Given the description of an element on the screen output the (x, y) to click on. 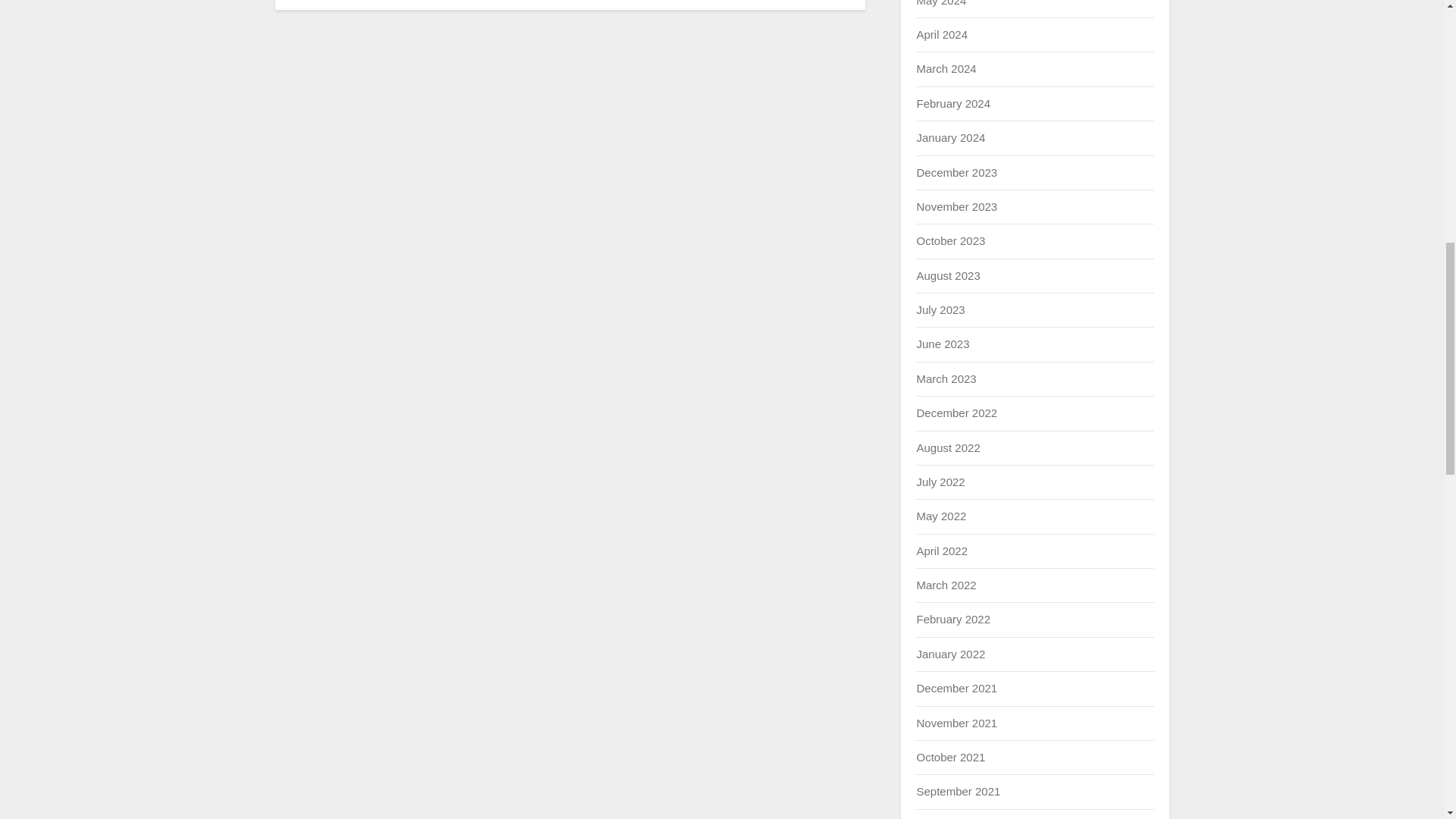
July 2022 (939, 481)
August 2023 (947, 275)
January 2024 (950, 137)
October 2023 (950, 240)
March 2024 (945, 68)
March 2023 (945, 378)
December 2022 (956, 412)
April 2022 (941, 550)
April 2024 (941, 33)
May 2022 (940, 515)
